Given the description of an element on the screen output the (x, y) to click on. 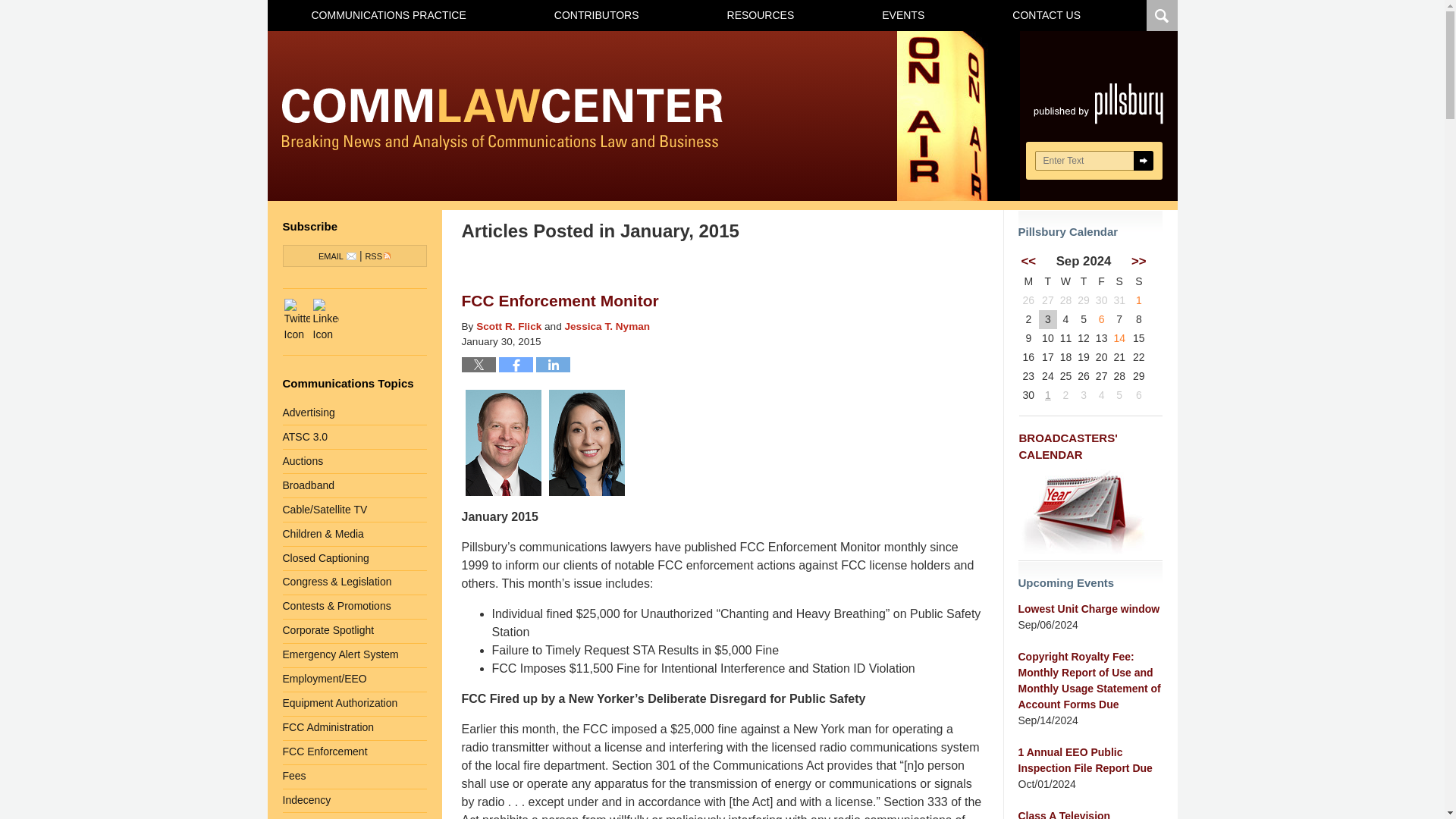
RESOURCES (760, 15)
Scott R. Flick (508, 326)
SEARCH (1142, 160)
Permalink to FCC Enforcement Monitor (559, 300)
CONTACT US (1046, 15)
Jessica T. Nyman (606, 326)
EVENTS (903, 15)
CONTRIBUTORS (596, 15)
FCC Enforcement Monitor (559, 300)
